Given the description of an element on the screen output the (x, y) to click on. 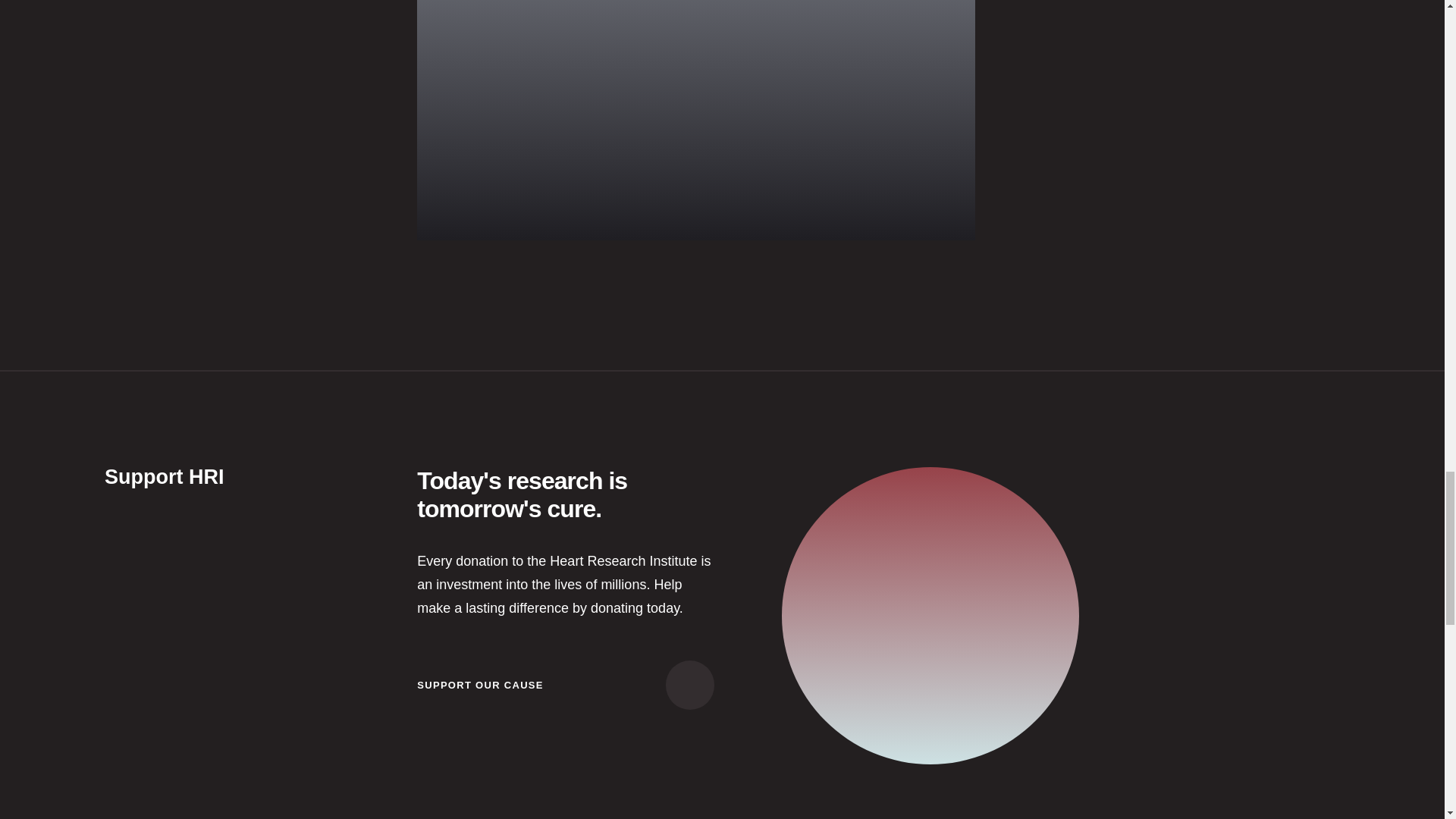
SUPPORT OUR CAUSE (565, 685)
